Given the description of an element on the screen output the (x, y) to click on. 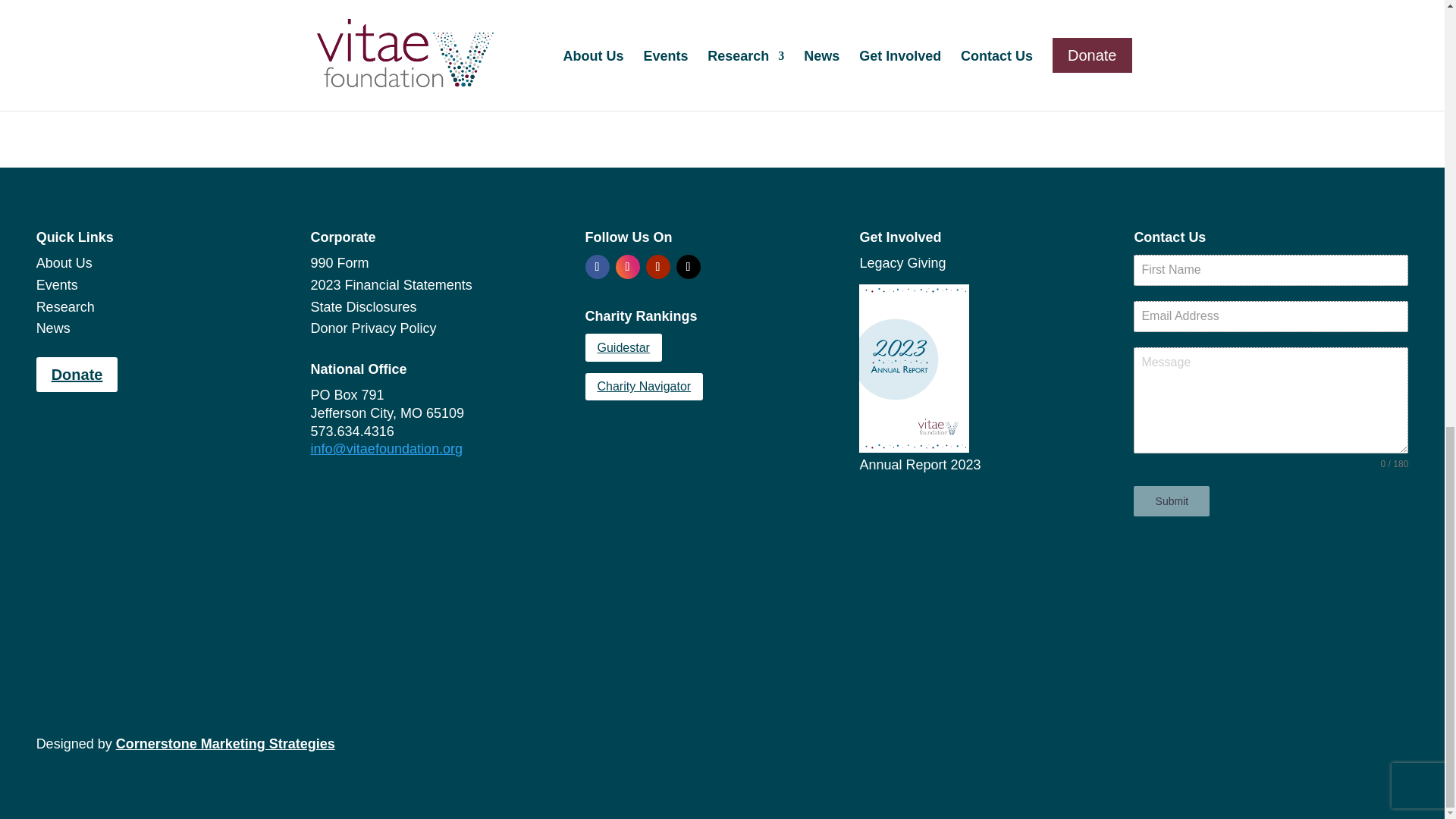
Submit (1171, 501)
Follow on X (688, 266)
Follow on Facebook (597, 266)
Guidestar (623, 347)
Charity Navigator (644, 387)
Follow on Youtube (657, 266)
Cornerstone Marketing Strategies (225, 743)
Follow on Instagram (627, 266)
Donate (76, 374)
